Given the description of an element on the screen output the (x, y) to click on. 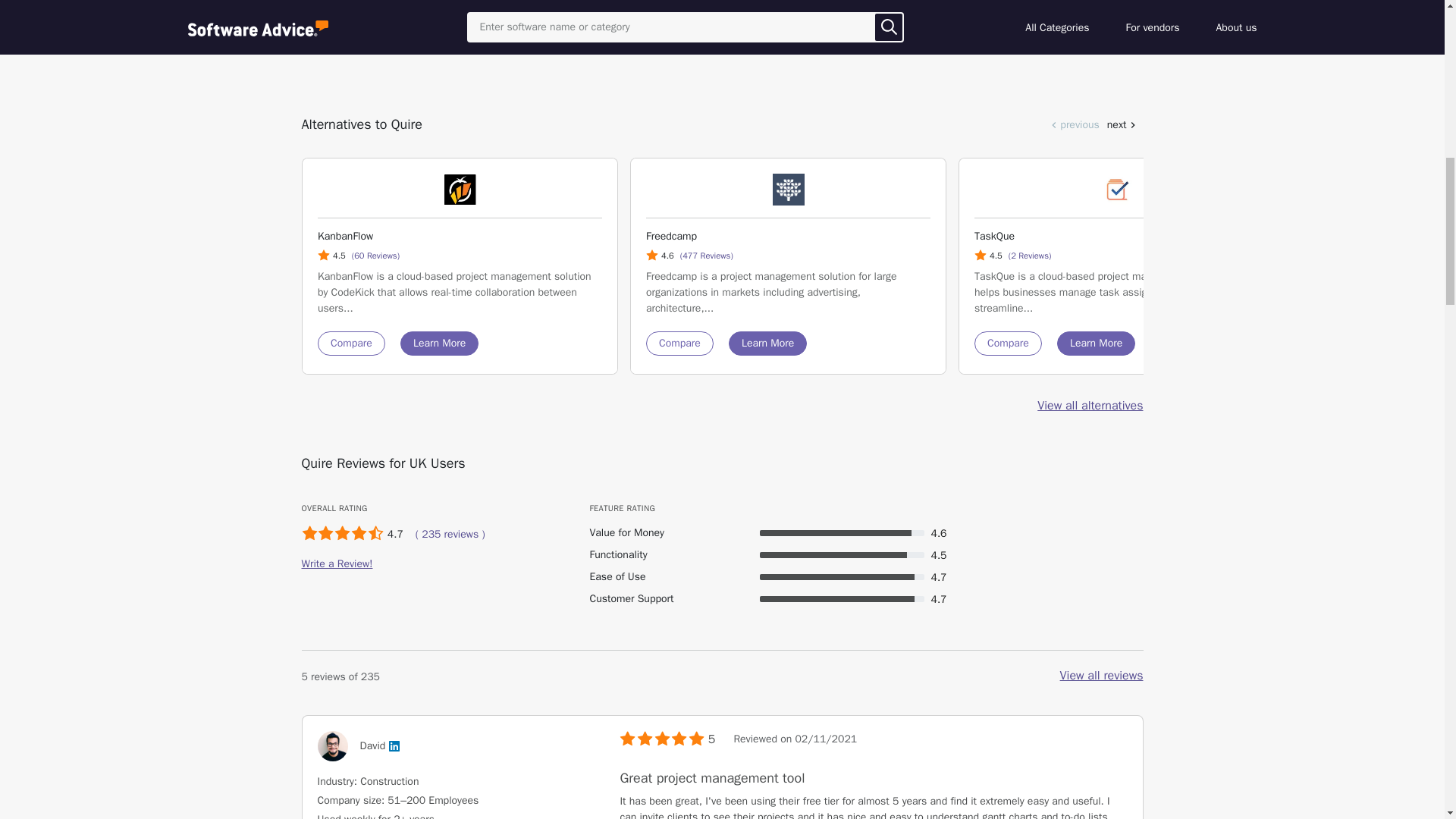
Learn More (439, 343)
Compare (679, 343)
Compare (1007, 343)
Learn More (767, 343)
previous (1072, 124)
Learn More (1096, 343)
Compare (350, 343)
next (1122, 124)
